Given the description of an element on the screen output the (x, y) to click on. 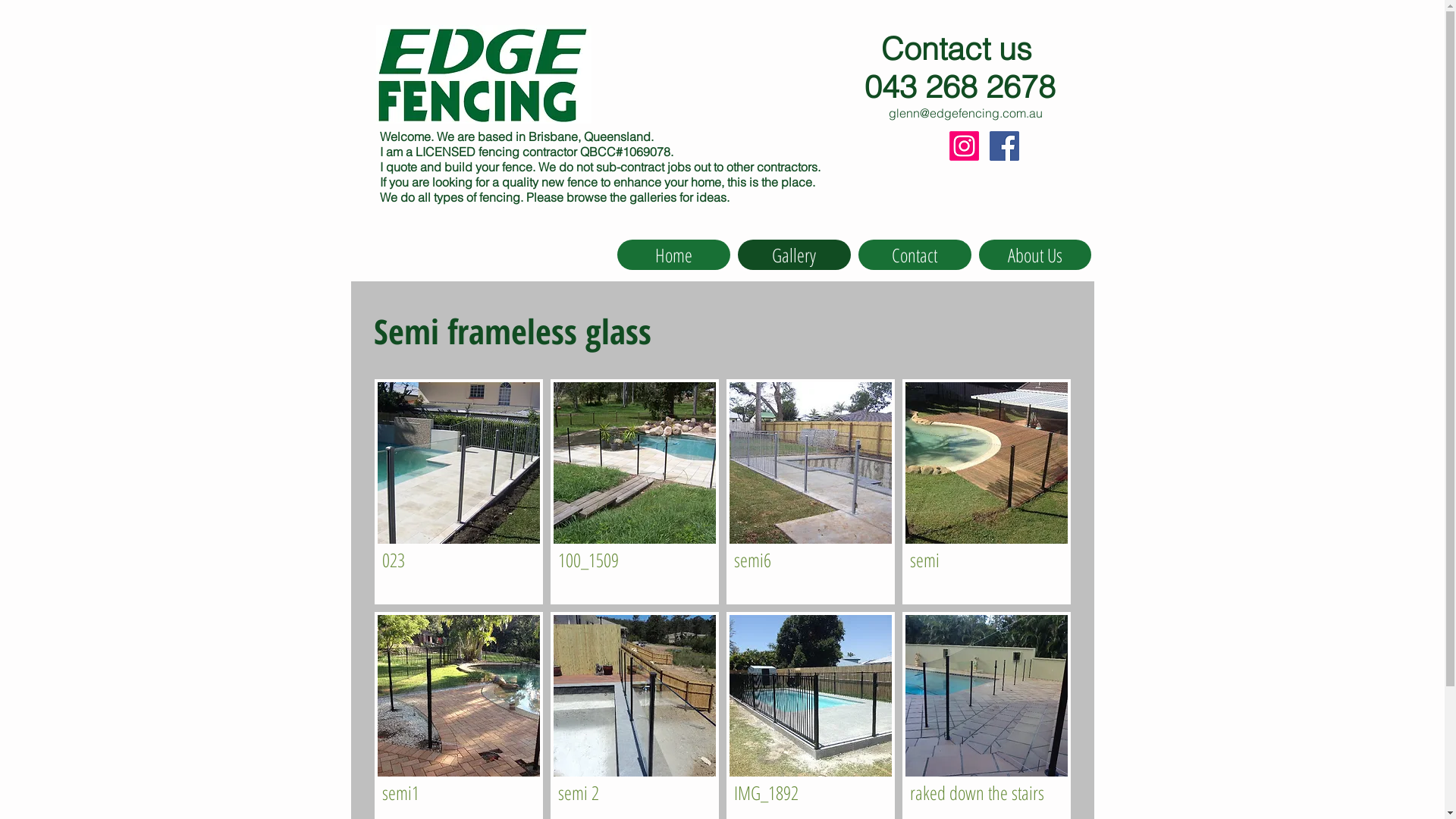
Gallery Element type: text (793, 254)
glenn@edgefencing.com.au Element type: text (965, 112)
Home Element type: text (673, 254)
Contact Element type: text (914, 254)
About Us Element type: text (1034, 254)
